Given the description of an element on the screen output the (x, y) to click on. 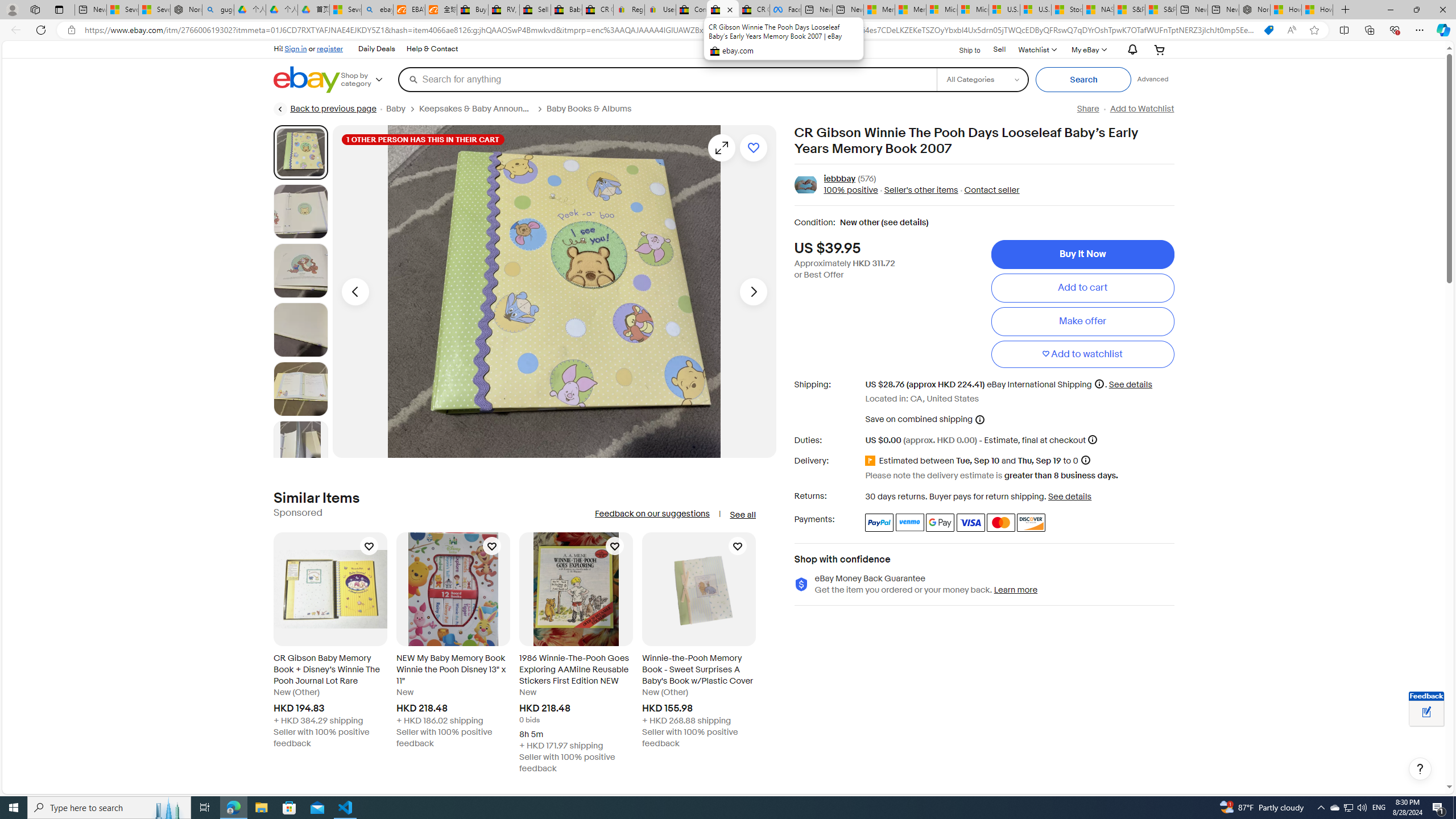
Picture 6 of 22 (300, 447)
Share (1087, 108)
Add to watchlist (1082, 353)
Leave feedback about your eBay ViewItem experience (1426, 713)
Make offer (1082, 320)
Discover (1030, 521)
Ship to (962, 50)
My eBayExpand My eBay (1088, 49)
Master Card (999, 521)
Baby (402, 108)
App bar (728, 29)
